Given the description of an element on the screen output the (x, y) to click on. 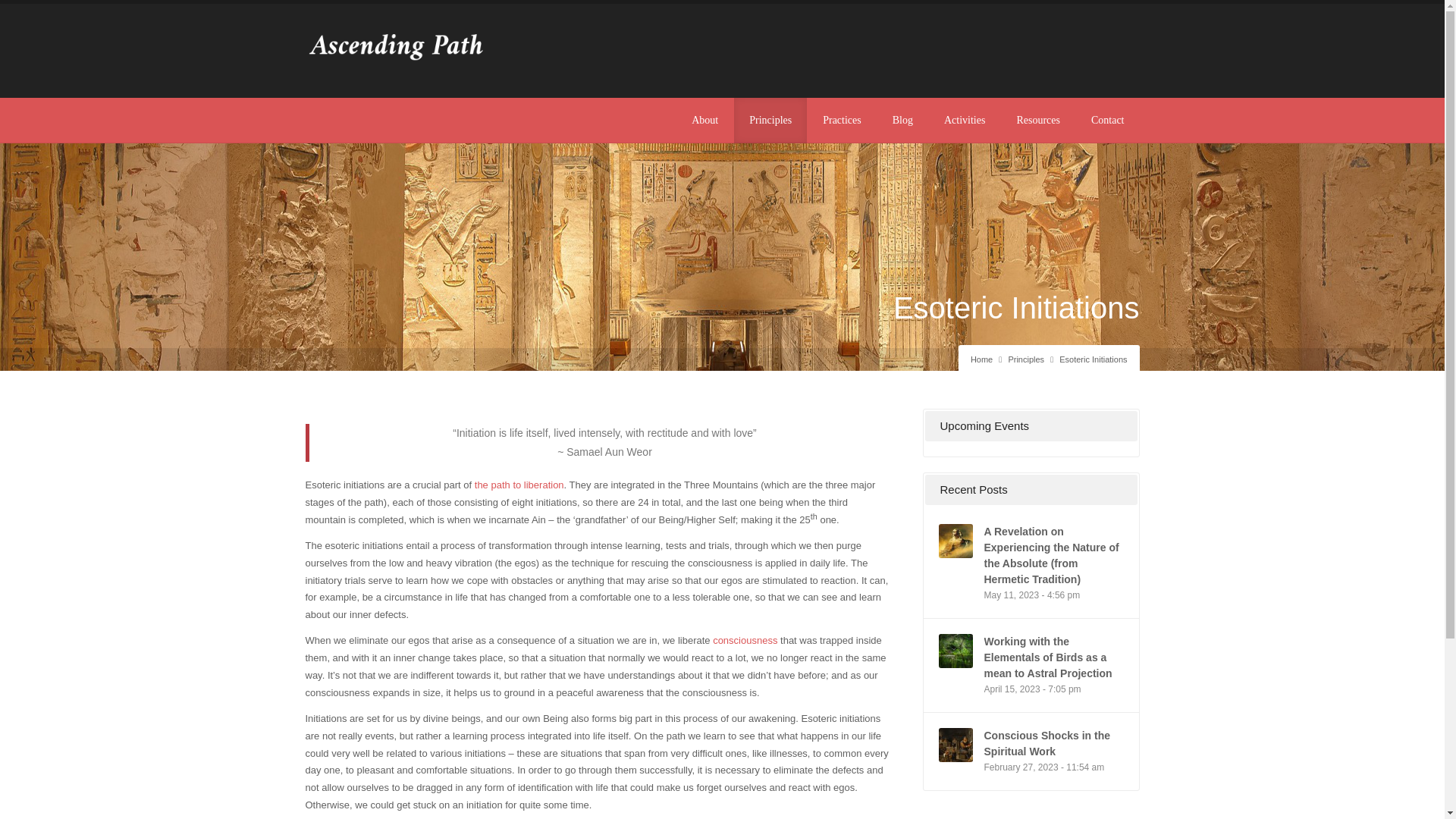
Principles (770, 120)
Activities (964, 120)
Practices (841, 120)
Resources (1037, 120)
Principles (1025, 358)
Ascending Path (981, 358)
